Given the description of an element on the screen output the (x, y) to click on. 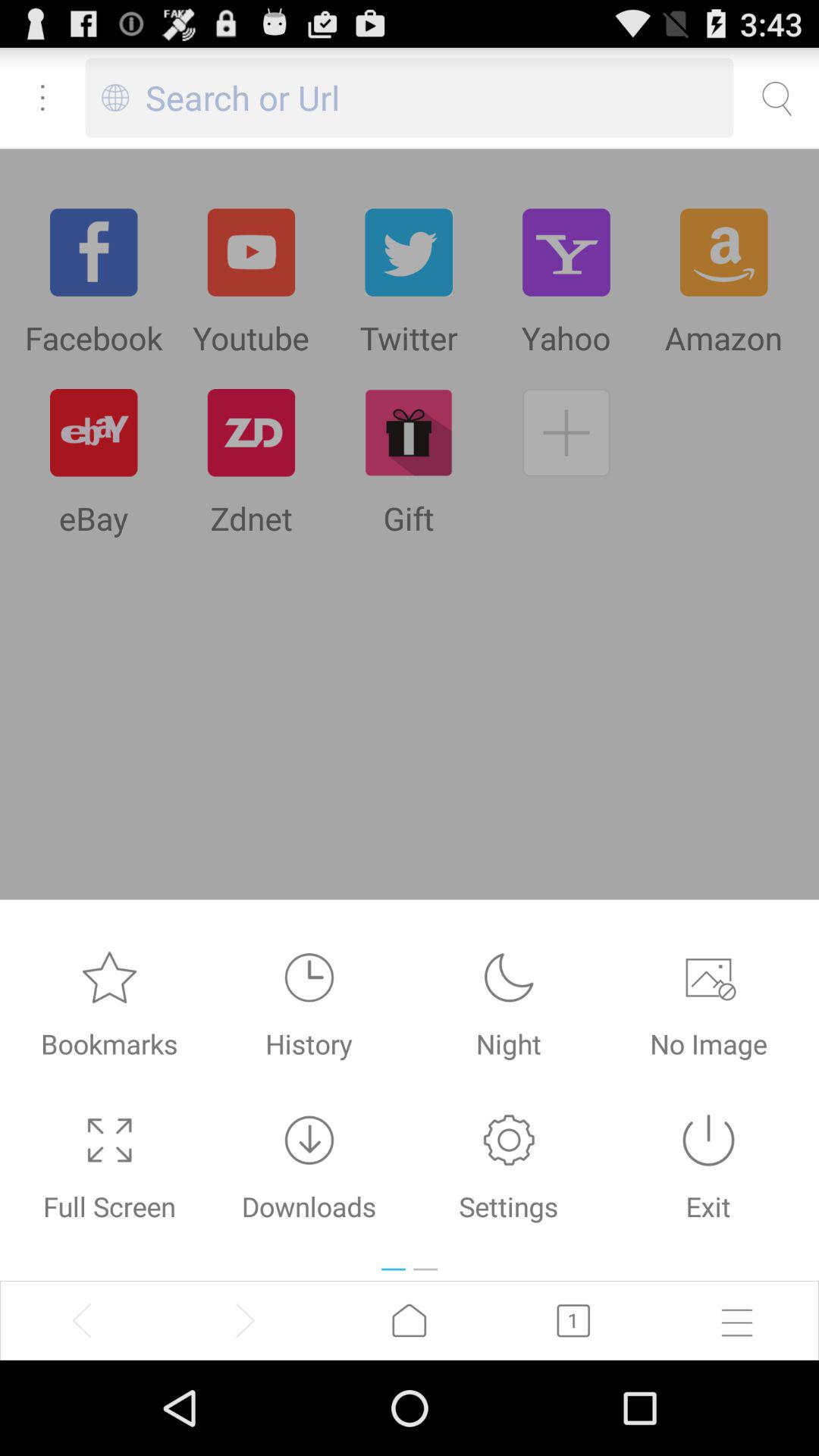
click on the start symbol which is above the text bookmarks (109, 978)
go to top of yahoo (565, 252)
click on the icon top right of the page (776, 98)
click on the exit icon below no image (708, 1140)
click on the twitter website image option (408, 252)
click on the option which is above settings (509, 978)
